Given the description of an element on the screen output the (x, y) to click on. 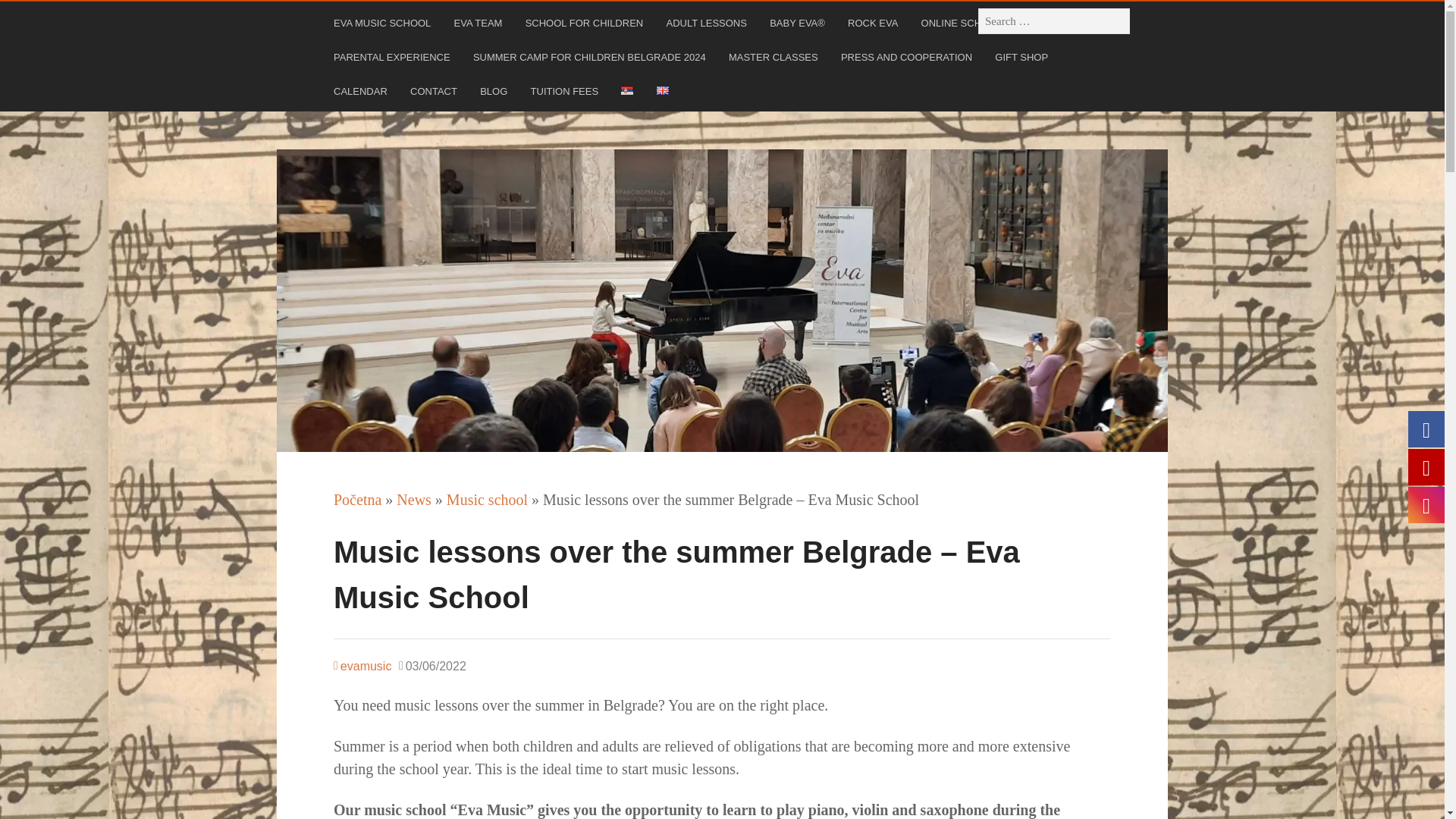
Friday, June 3, 2022, 4:34 pm (431, 666)
SUMMER CAMP FOR CHILDREN BELGRADE 2024 (591, 59)
News (413, 499)
ROCK EVA (874, 26)
BLOG (495, 93)
PRESS AND COOPERATION (908, 59)
Posts by evamusic (362, 666)
CONTACT (435, 93)
evamusic (362, 666)
SCHOOL FOR CHILDREN (586, 26)
